Given the description of an element on the screen output the (x, y) to click on. 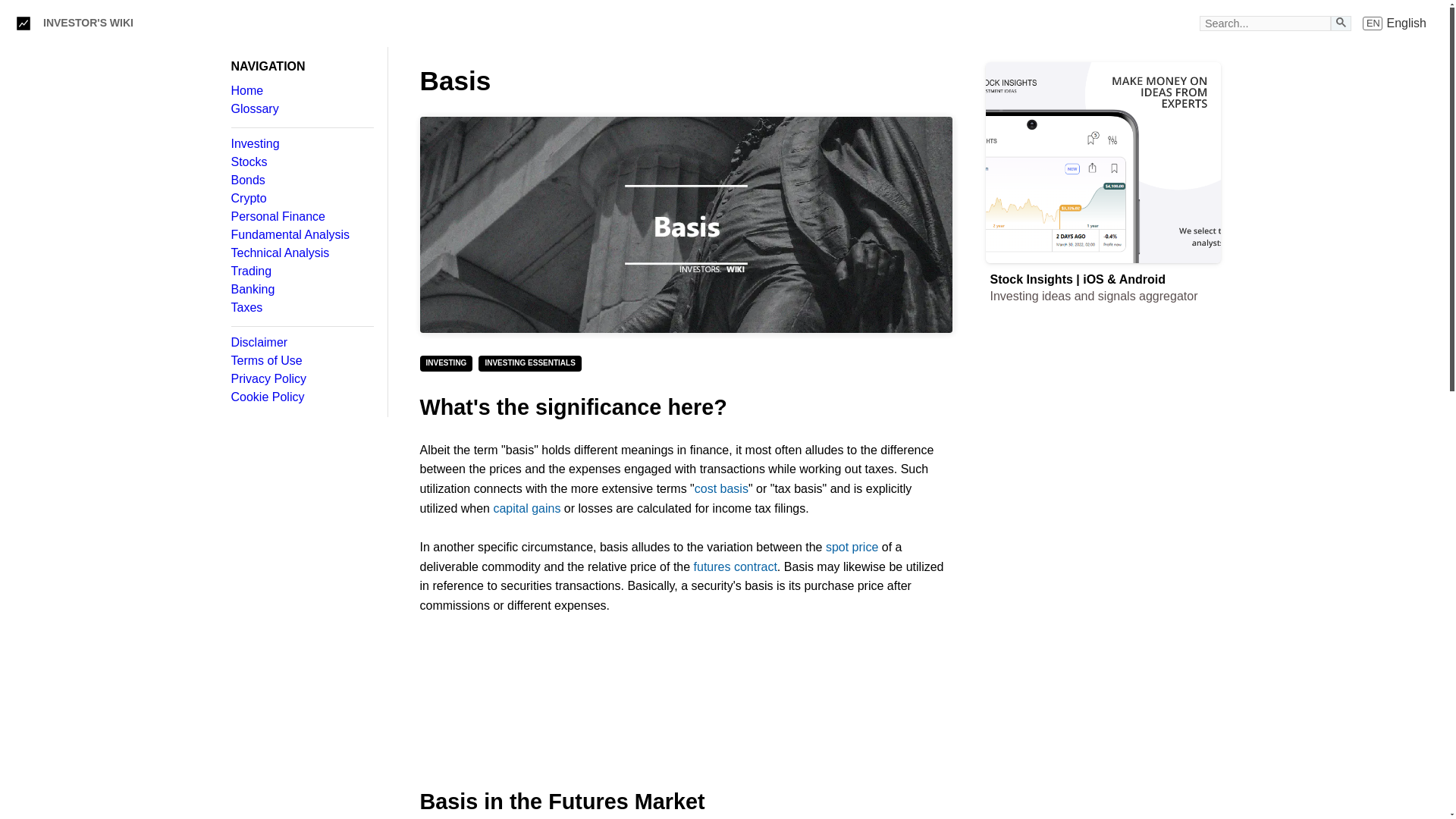
Glossary (1394, 23)
Advertisement (301, 109)
Basis (686, 702)
Advertisement (686, 224)
Fundamental Analysis (1103, 784)
Home (301, 234)
Personal Finance (301, 91)
Advertisement (301, 216)
Banking (1103, 636)
INVESTOR'S WIKI (301, 289)
Search (88, 23)
Crypto (1340, 22)
Disclaimer (301, 198)
Search (301, 342)
